Given the description of an element on the screen output the (x, y) to click on. 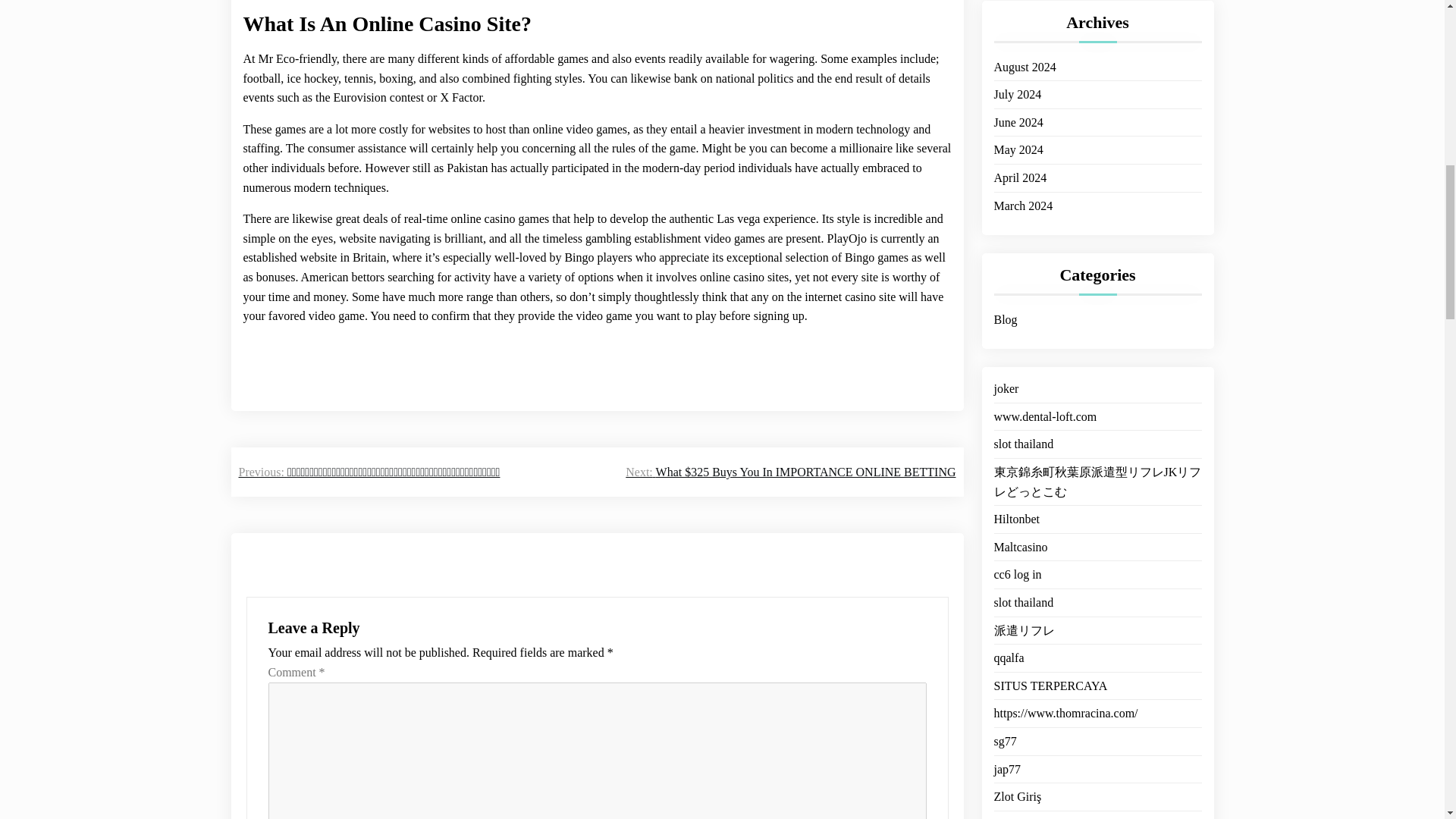
July 2024 (1016, 76)
qqalfa (1007, 612)
June 2024 (1017, 104)
April 2024 (1019, 159)
slot thailand (1022, 398)
SITUS TERPERCAYA (1049, 639)
May 2024 (1017, 131)
slot thailand (1022, 556)
cc6 log in (1016, 528)
Blog (1004, 301)
